Given the description of an element on the screen output the (x, y) to click on. 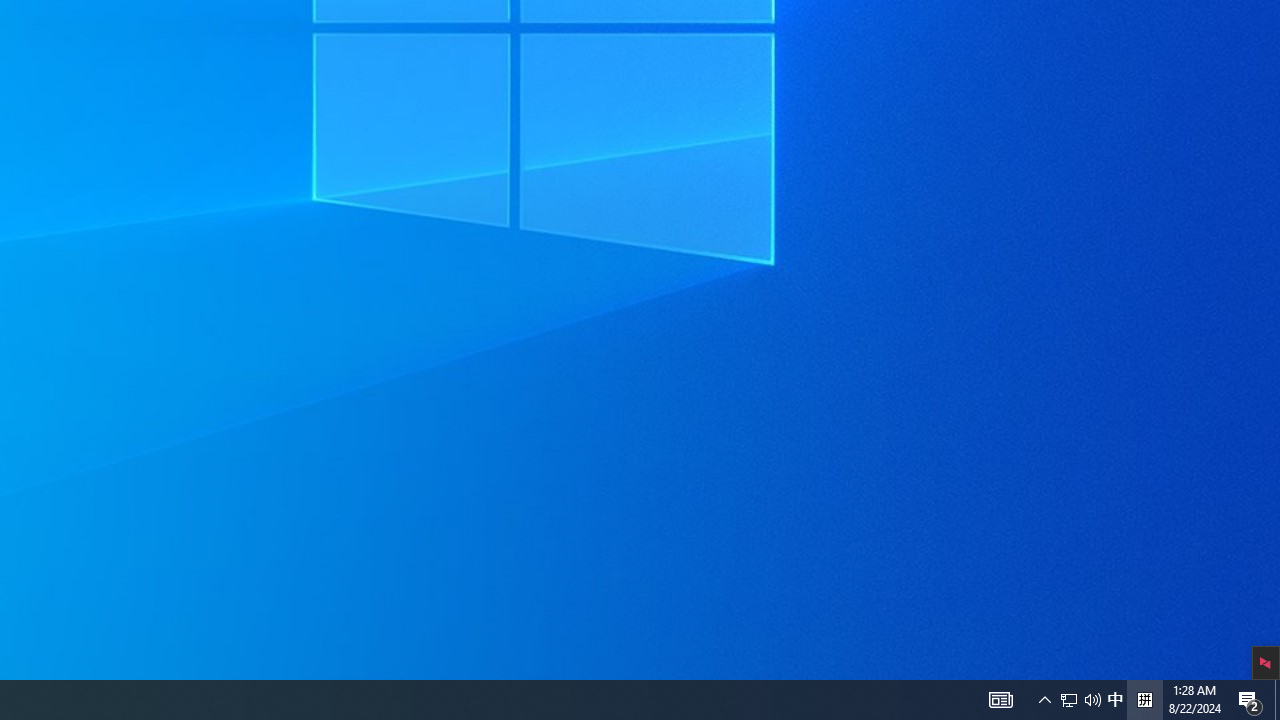
User Promoted Notification Area (1080, 699)
Notification Chevron (1115, 699)
AutomationID: 4105 (1044, 699)
Show desktop (1000, 699)
Action Center, 2 new notifications (1069, 699)
Tray Input Indicator - Chinese (Simplified, China) (1277, 699)
Q2790: 100% (1250, 699)
